Given the description of an element on the screen output the (x, y) to click on. 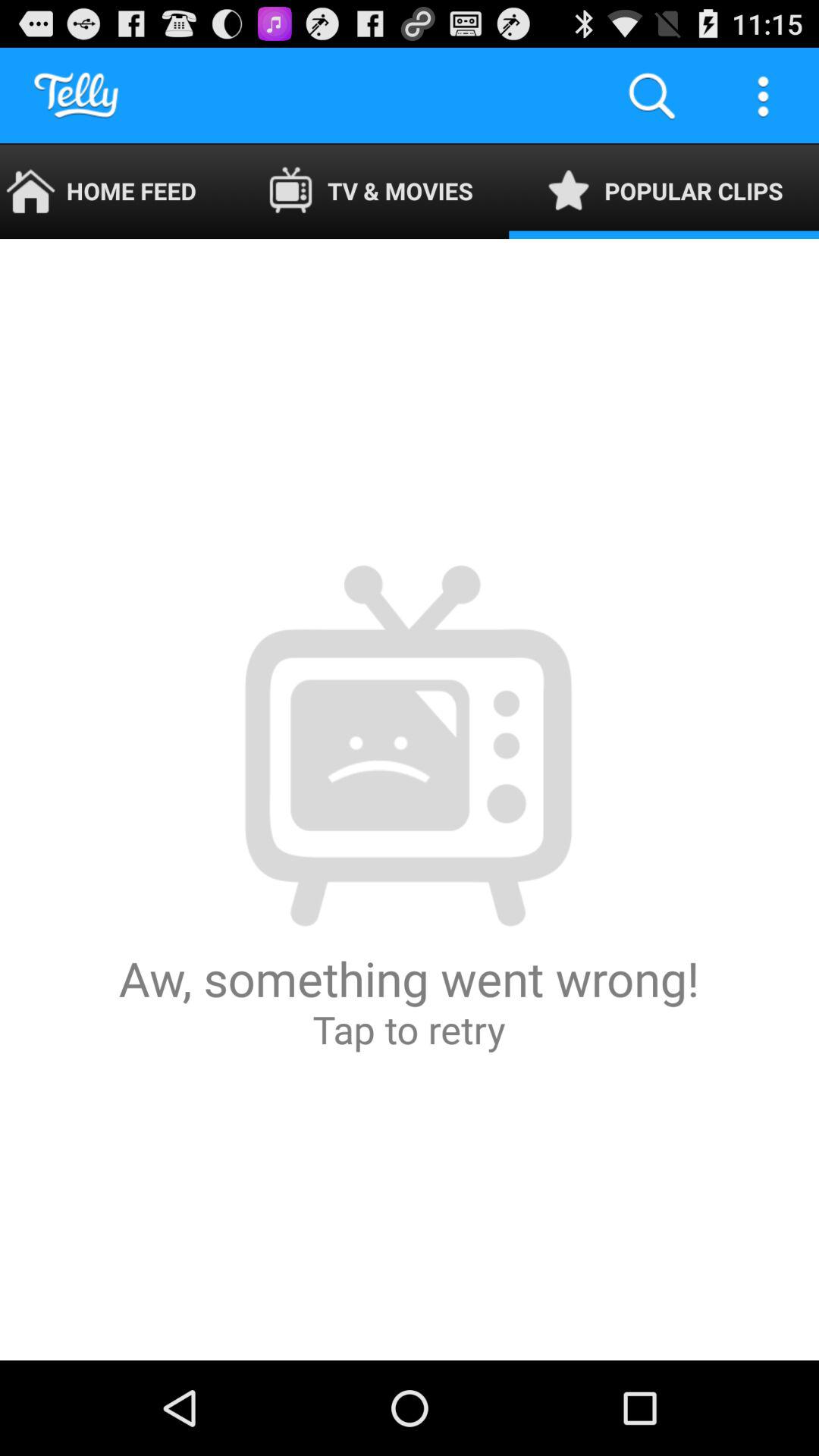
click home feed icon (116, 190)
